Given the description of an element on the screen output the (x, y) to click on. 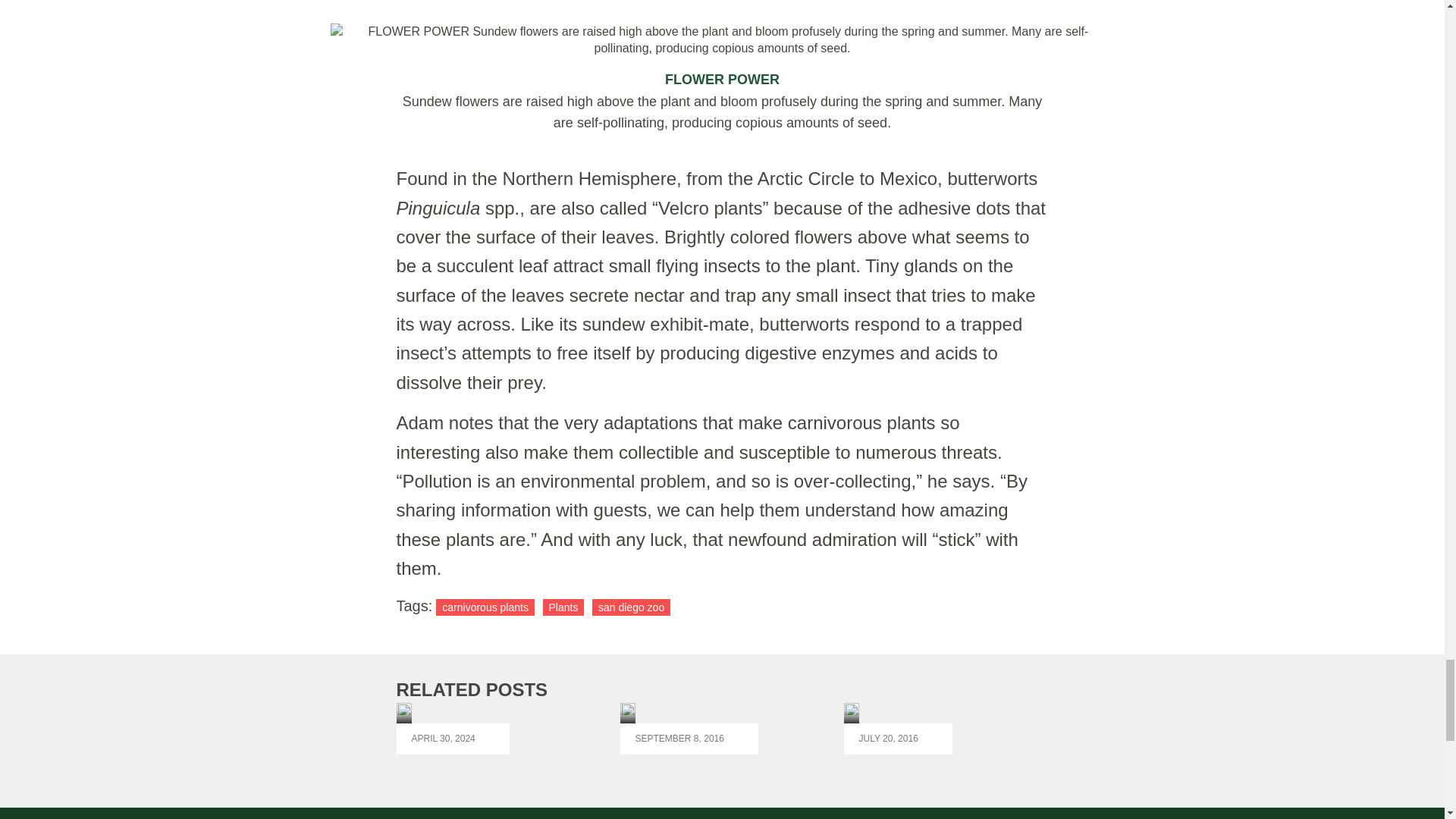
Plants (564, 606)
Fur-miliar Faces (452, 727)
carnivorous plants (484, 606)
san diego zoo (630, 606)
APRIL 30, 2024 (452, 727)
SEPTEMBER 8, 2016 (689, 727)
JULY 20, 2016 (898, 727)
